Given the description of an element on the screen output the (x, y) to click on. 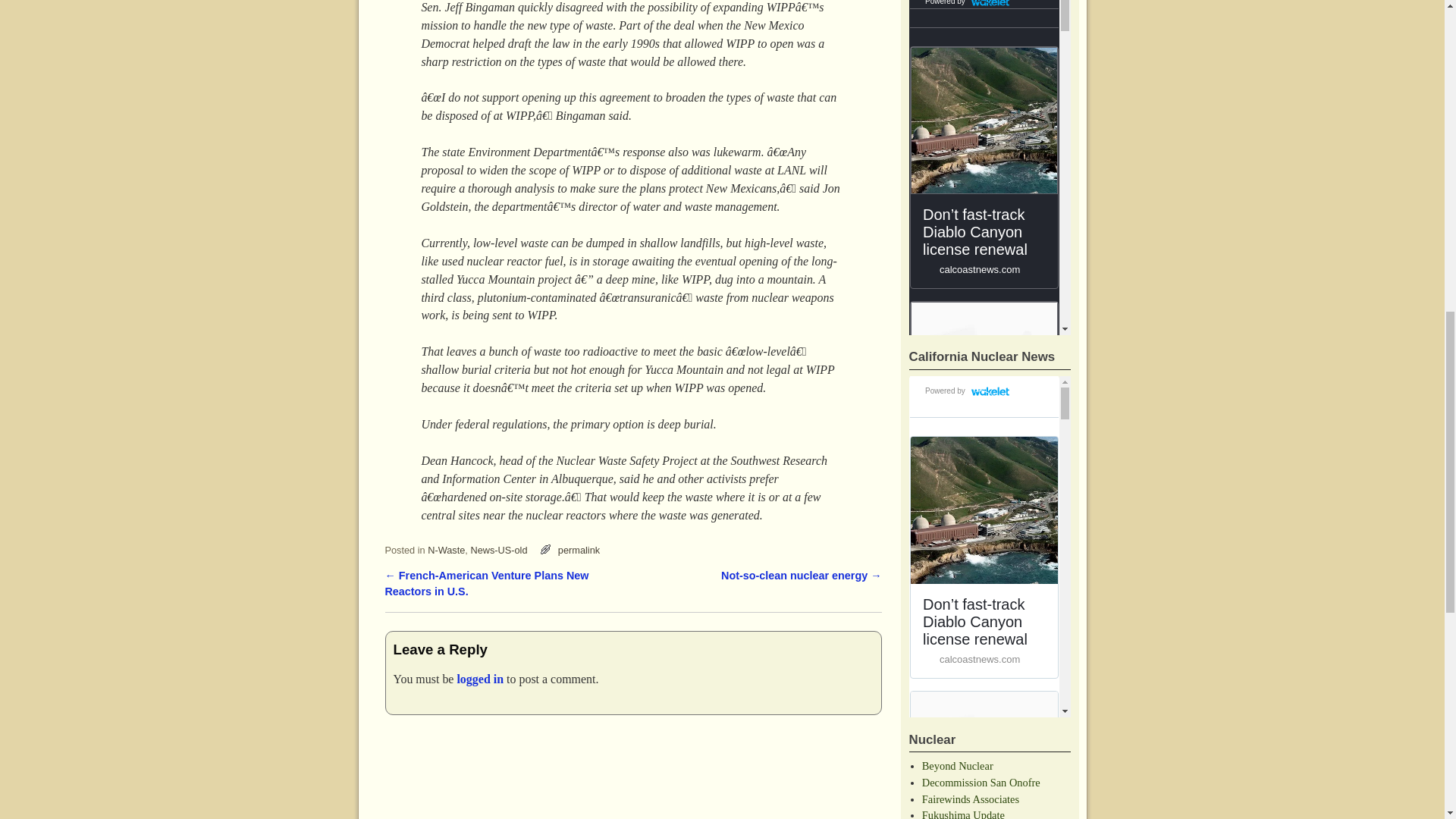
Permalink to DOE considers N.M. for nuclear waste disposal (578, 550)
